Given the description of an element on the screen output the (x, y) to click on. 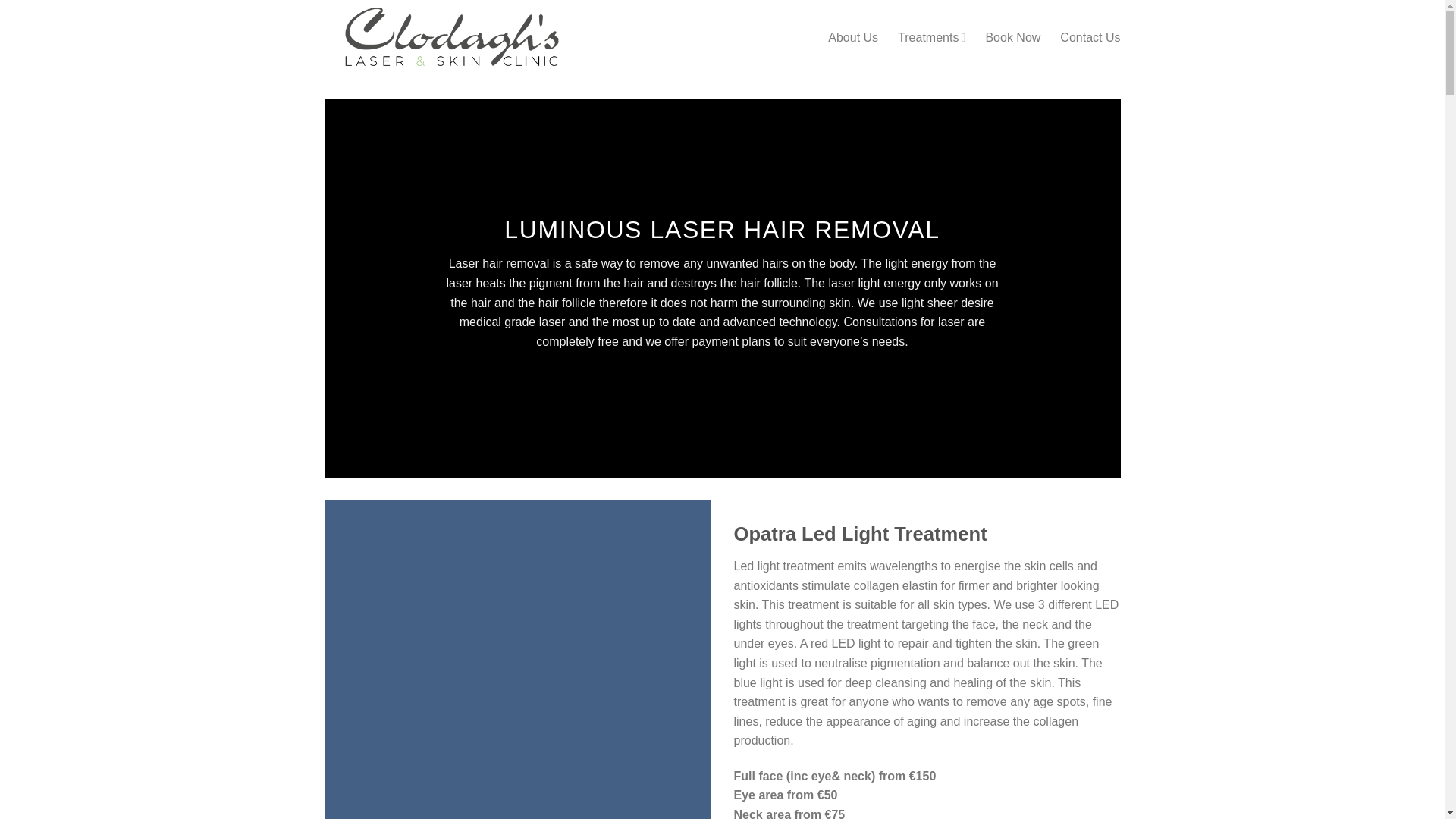
My WordPress (455, 38)
Book Now (1013, 37)
Contact Us (1089, 37)
Treatments (931, 37)
About Us (852, 37)
